Given the description of an element on the screen output the (x, y) to click on. 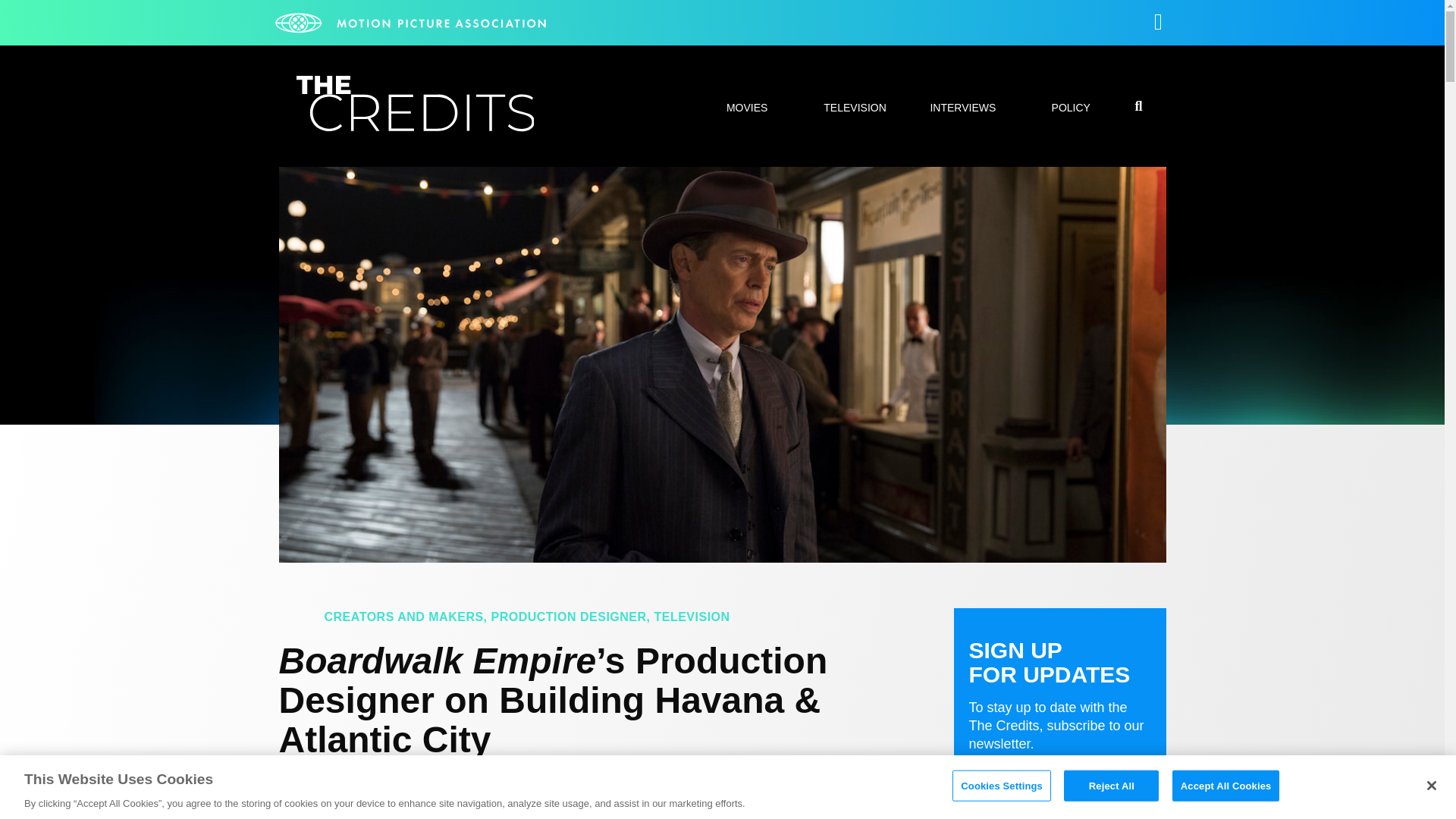
Search (1077, 408)
